Given the description of an element on the screen output the (x, y) to click on. 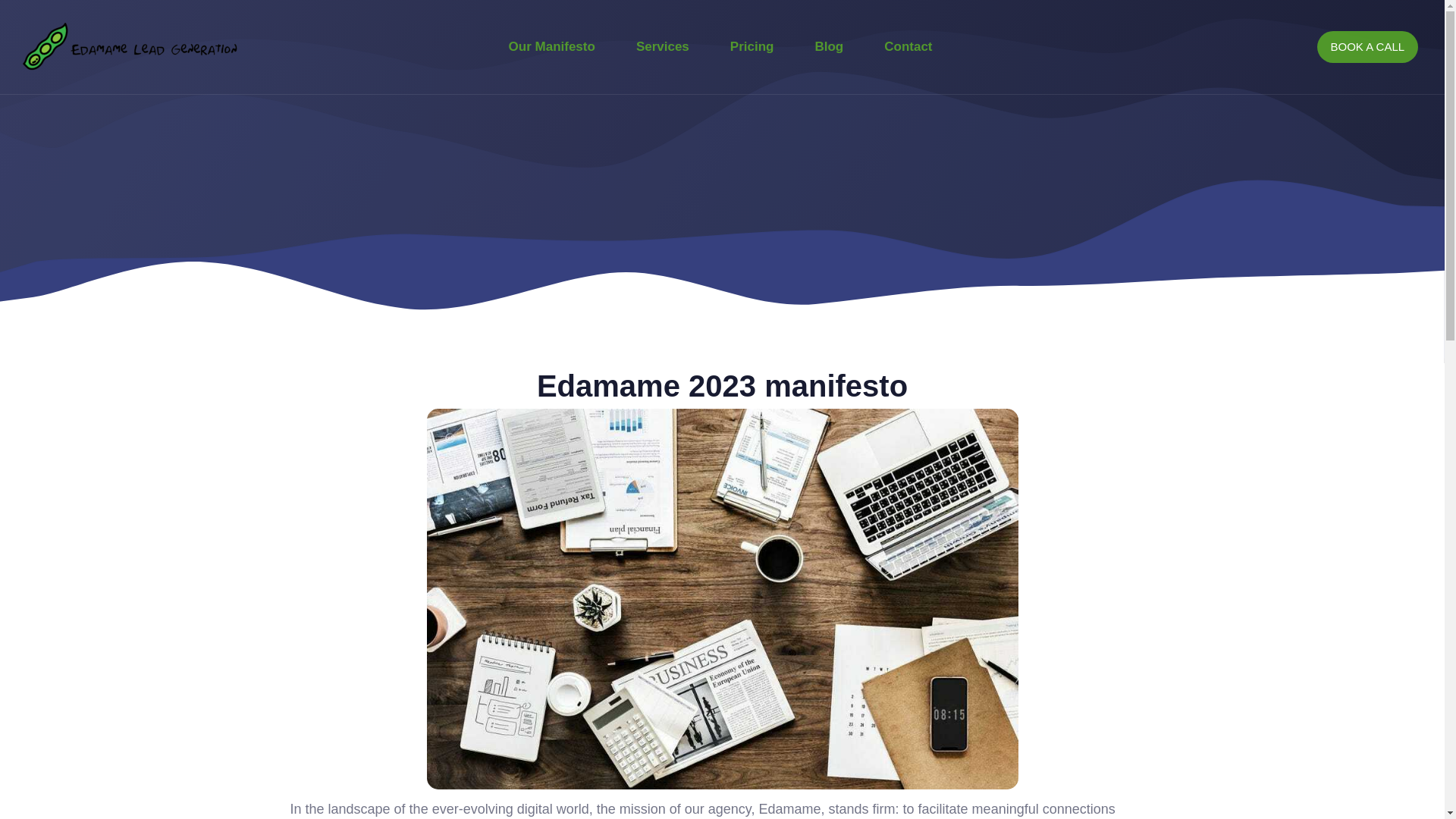
BOOK A CALL (1367, 47)
Services (662, 47)
Contact (907, 47)
Pricing (752, 47)
Our Manifesto (551, 47)
